Given the description of an element on the screen output the (x, y) to click on. 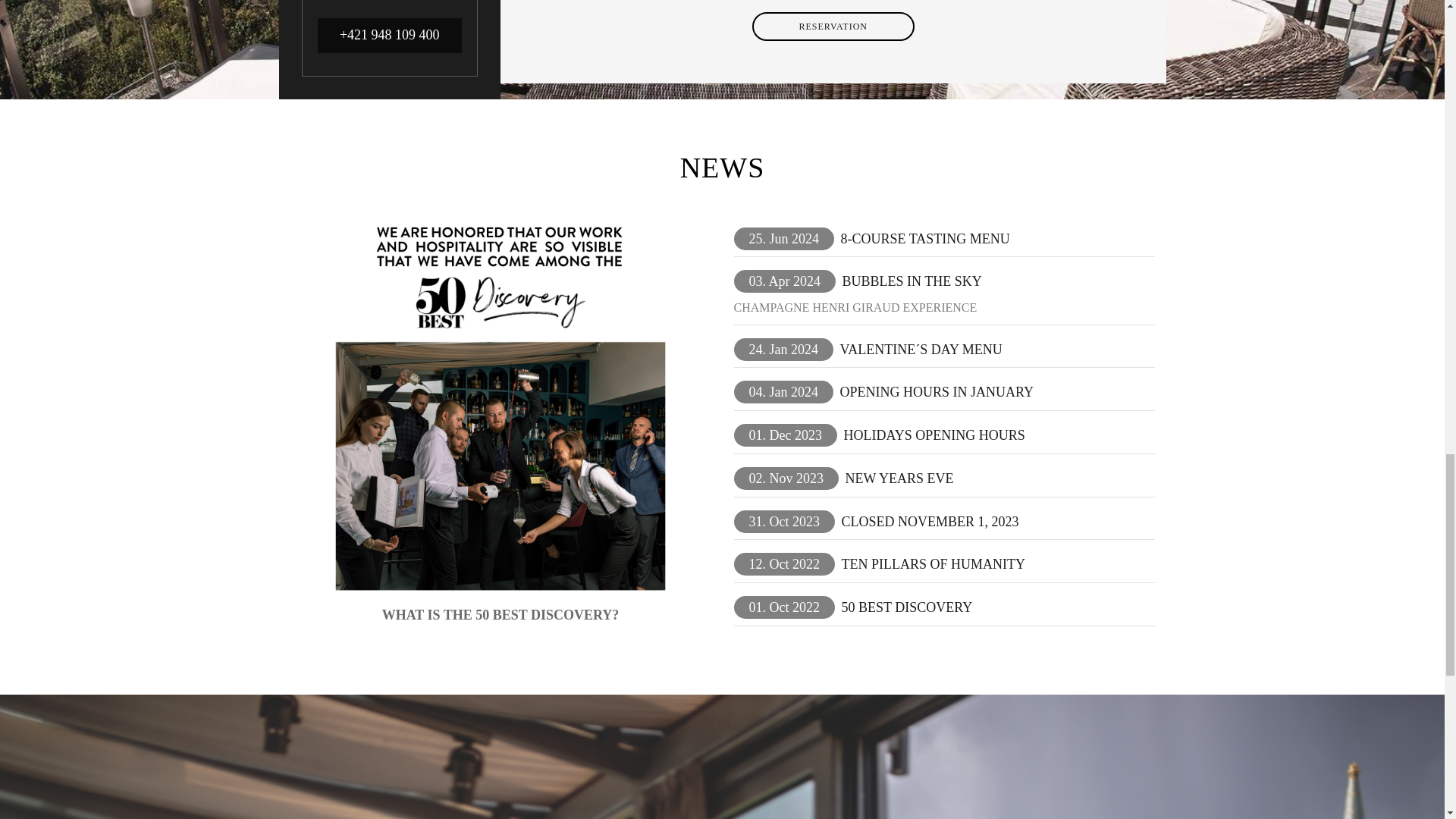
OPENING HOURS IN JANUARY (935, 391)
CLOSED NOVEMBER 1, 2023 (929, 521)
BUBBLES IN THE SKY (911, 281)
25. Jun 2024 (783, 238)
NEW YEARS EVE (899, 477)
HOLIDAYS OPENING HOURS (933, 435)
03. Apr 2024 (784, 281)
02. Nov 2023 (786, 477)
31. Oct 2023 (784, 521)
RESERVATION (833, 26)
12. Oct 2022 (784, 563)
TEN PILLARS OF HUMANITY (933, 563)
50 BEST DISCOVERY (906, 607)
WHAT IS THE 50 BEST DISCOVERY? (500, 613)
